Given the description of an element on the screen output the (x, y) to click on. 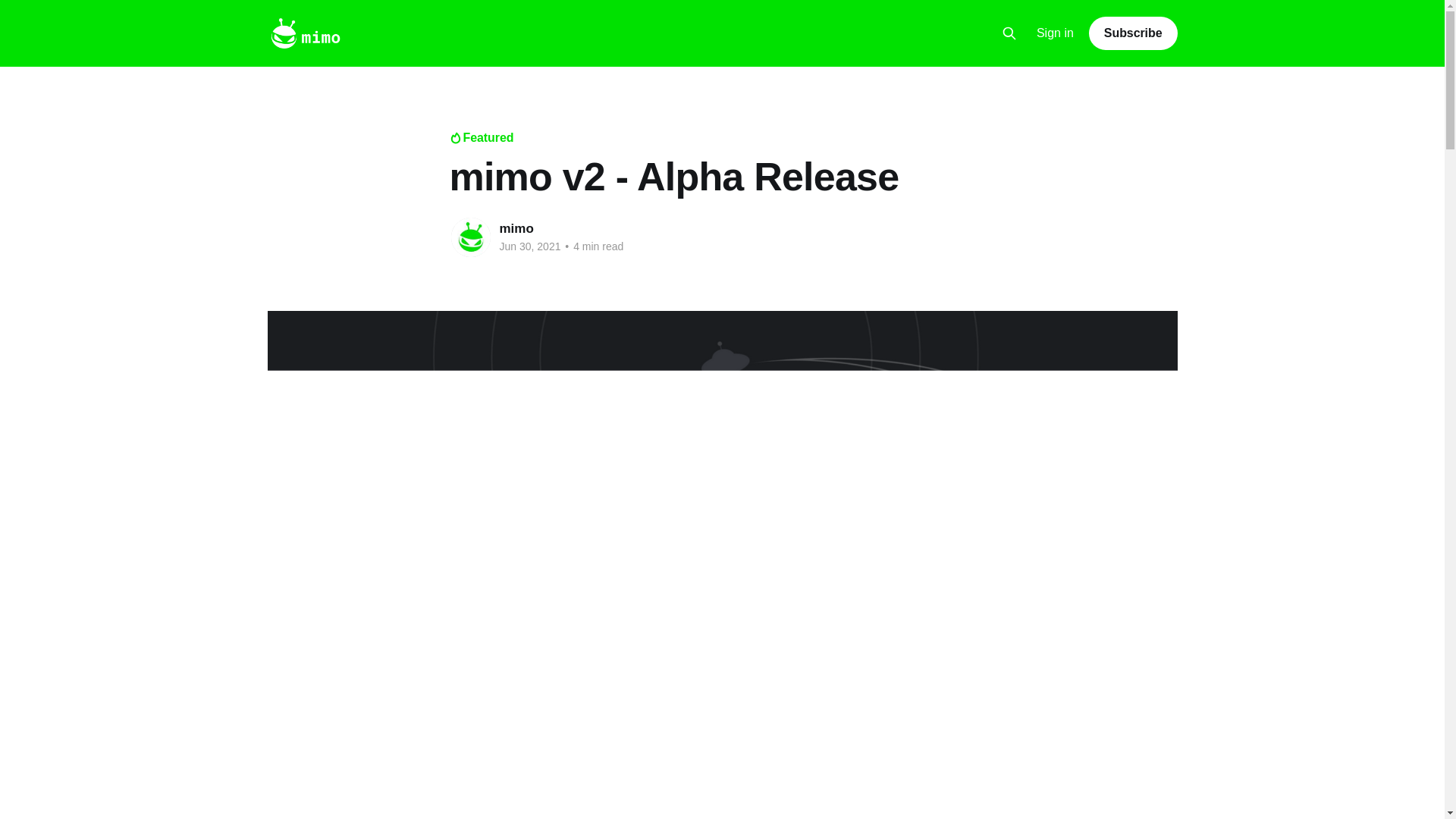
Subscribe (1133, 32)
Sign in (1055, 33)
mimo (515, 228)
